Given the description of an element on the screen output the (x, y) to click on. 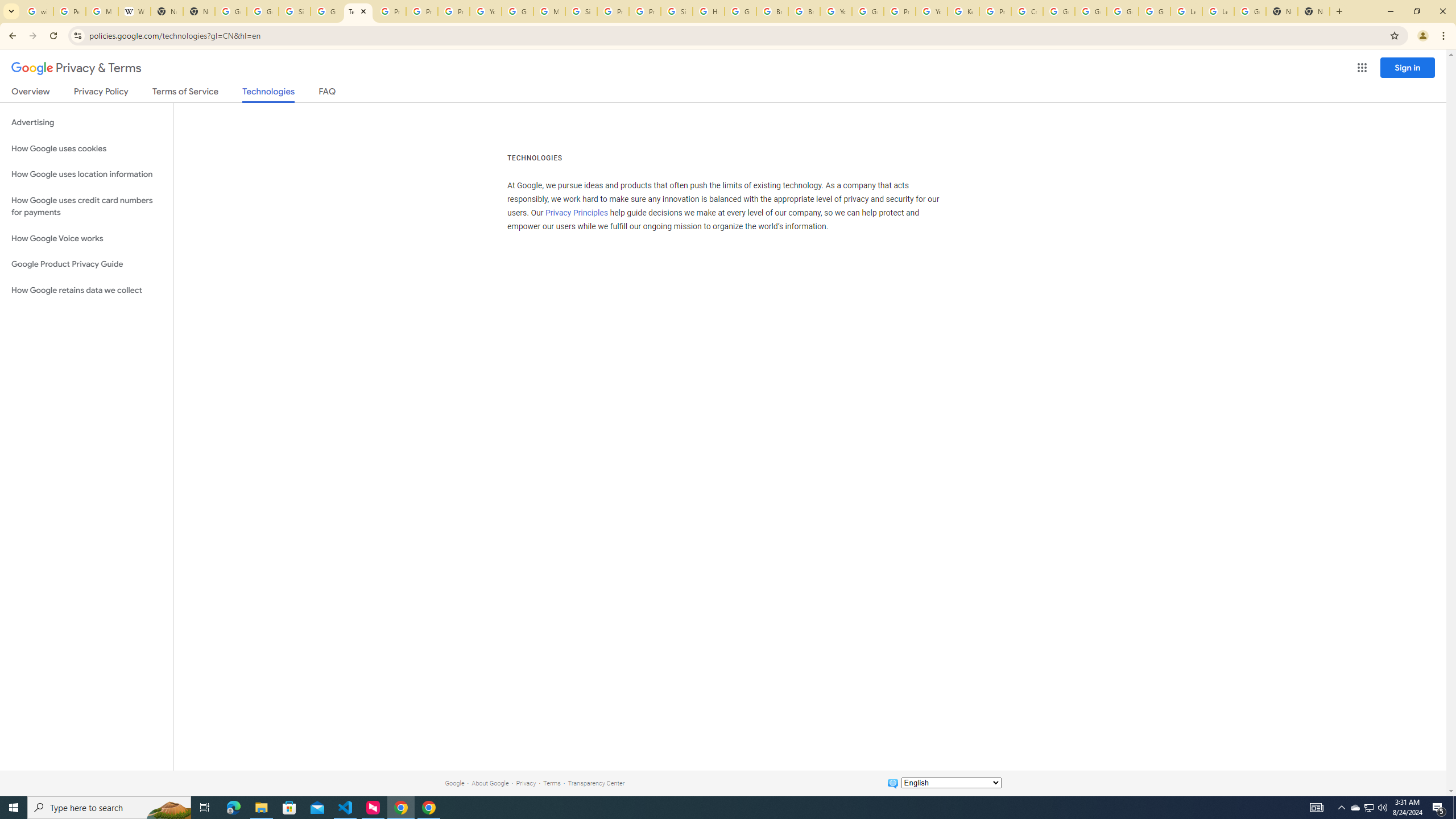
Google Account Help (1154, 11)
Google Account Help (1059, 11)
How Google uses cookies (86, 148)
How Google Voice works (86, 238)
How Google retains data we collect (86, 289)
Privacy Principles (577, 213)
